Given the description of an element on the screen output the (x, y) to click on. 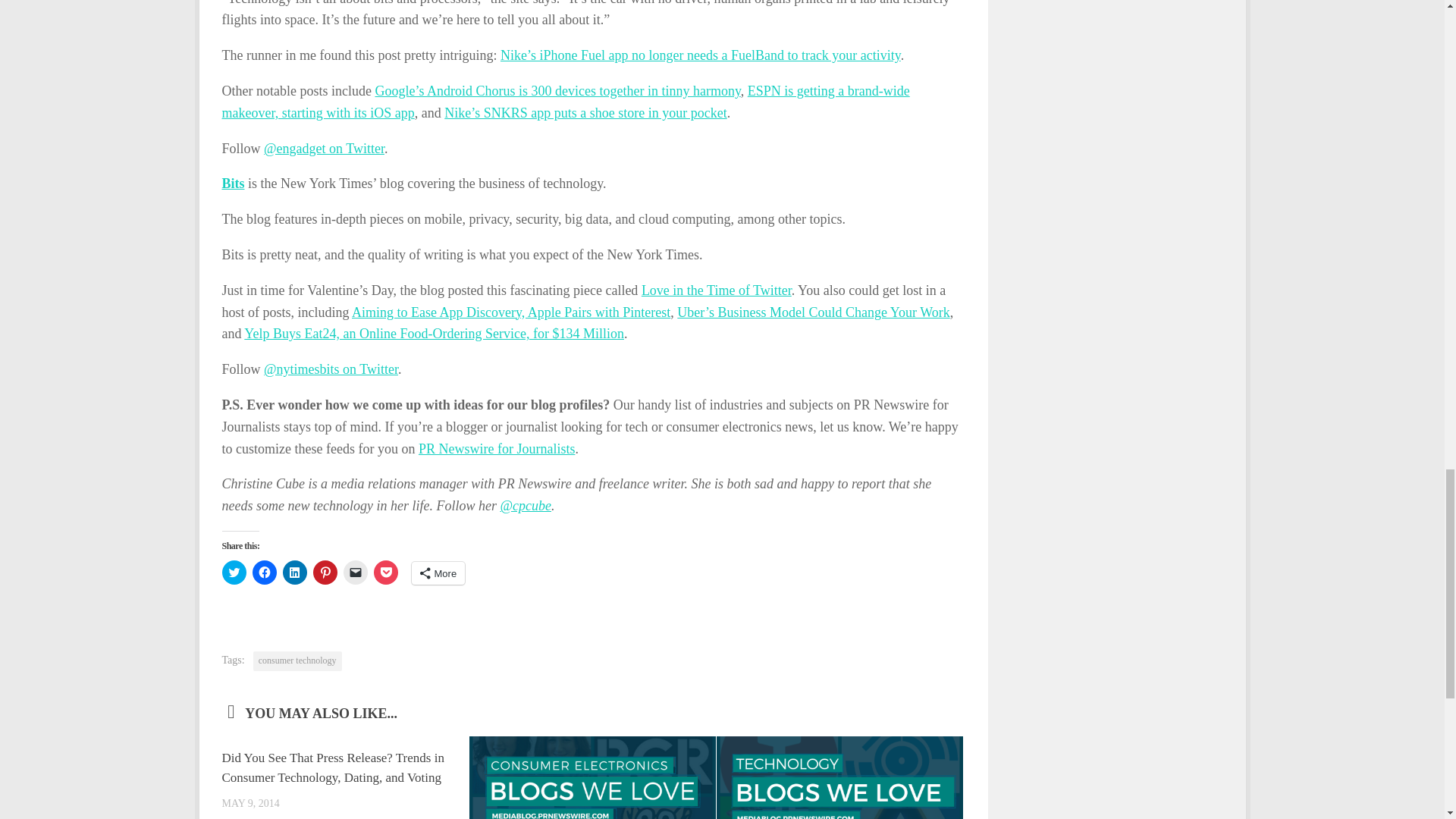
Click to share on Pinterest (324, 572)
Click to share on Pocket (384, 572)
Click to share on Facebook (263, 572)
Click to share on Twitter (233, 572)
Click to share on LinkedIn (293, 572)
Click to email a link to a friend (354, 572)
